Given the description of an element on the screen output the (x, y) to click on. 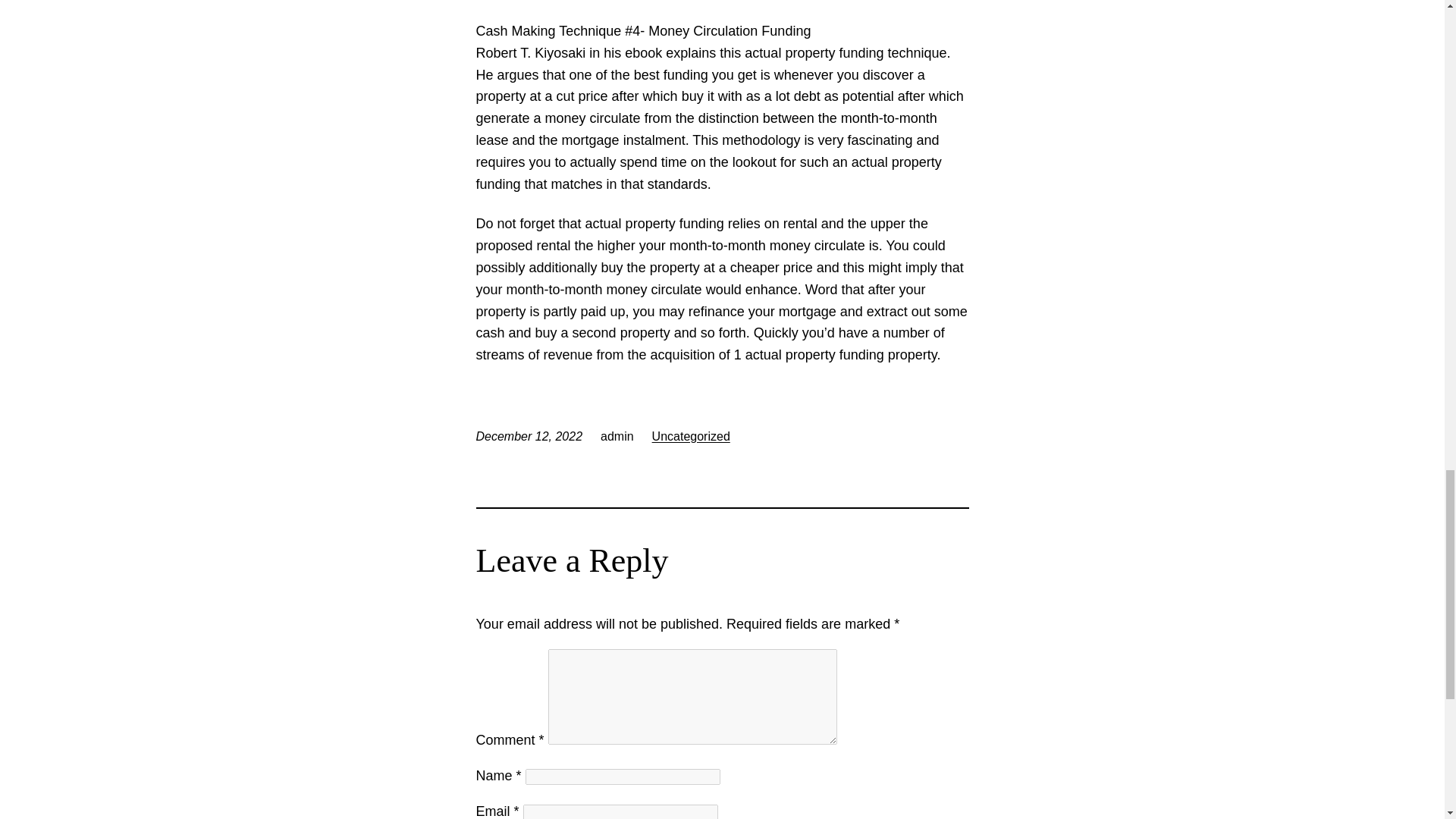
Uncategorized (691, 436)
